Given the description of an element on the screen output the (x, y) to click on. 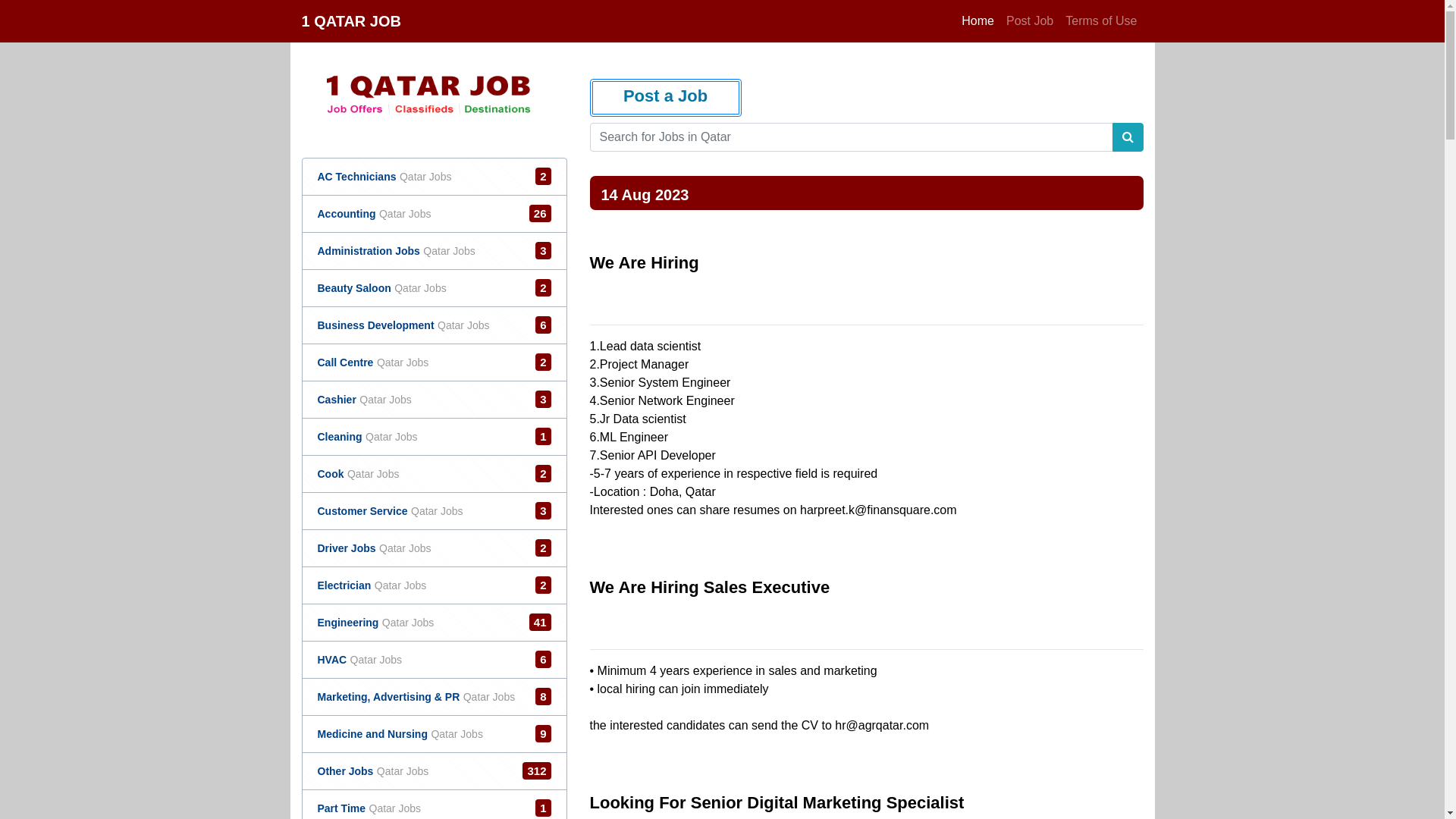
Home Element type: text (977, 21)
Electrician Qatar Jobs
2 Element type: text (371, 584)
Call Centre Qatar Jobs
2 Element type: text (372, 361)
Engineering Qatar Jobs
41 Element type: text (374, 621)
Customer Service Qatar Jobs
3 Element type: text (389, 510)
Post Job Element type: text (1029, 21)
Post a Job Element type: text (665, 97)
Accounting Qatar Jobs
26 Element type: text (373, 213)
Driver Jobs Qatar Jobs
2 Element type: text (373, 547)
Cashier Qatar Jobs
3 Element type: text (363, 398)
Beauty Saloon Qatar Jobs
2 Element type: text (380, 287)
Administration Jobs Qatar Jobs
3 Element type: text (395, 250)
Terms of Use Element type: text (1100, 21)
HVAC Qatar Jobs
6 Element type: text (358, 658)
Cleaning Qatar Jobs
1 Element type: text (366, 435)
Other Jobs Qatar Jobs
312 Element type: text (372, 770)
Marketing, Advertising & PR Qatar Jobs
8 Element type: text (415, 696)
Cook Qatar Jobs
2 Element type: text (357, 473)
Medicine and Nursing Qatar Jobs
9 Element type: text (399, 733)
Business Development Qatar Jobs
6 Element type: text (402, 324)
Part Time Qatar Jobs
1 Element type: text (368, 807)
1 QATAR JOB Element type: text (351, 21)
AC Technicians Qatar Jobs
2 Element type: text (383, 175)
